Given the description of an element on the screen output the (x, y) to click on. 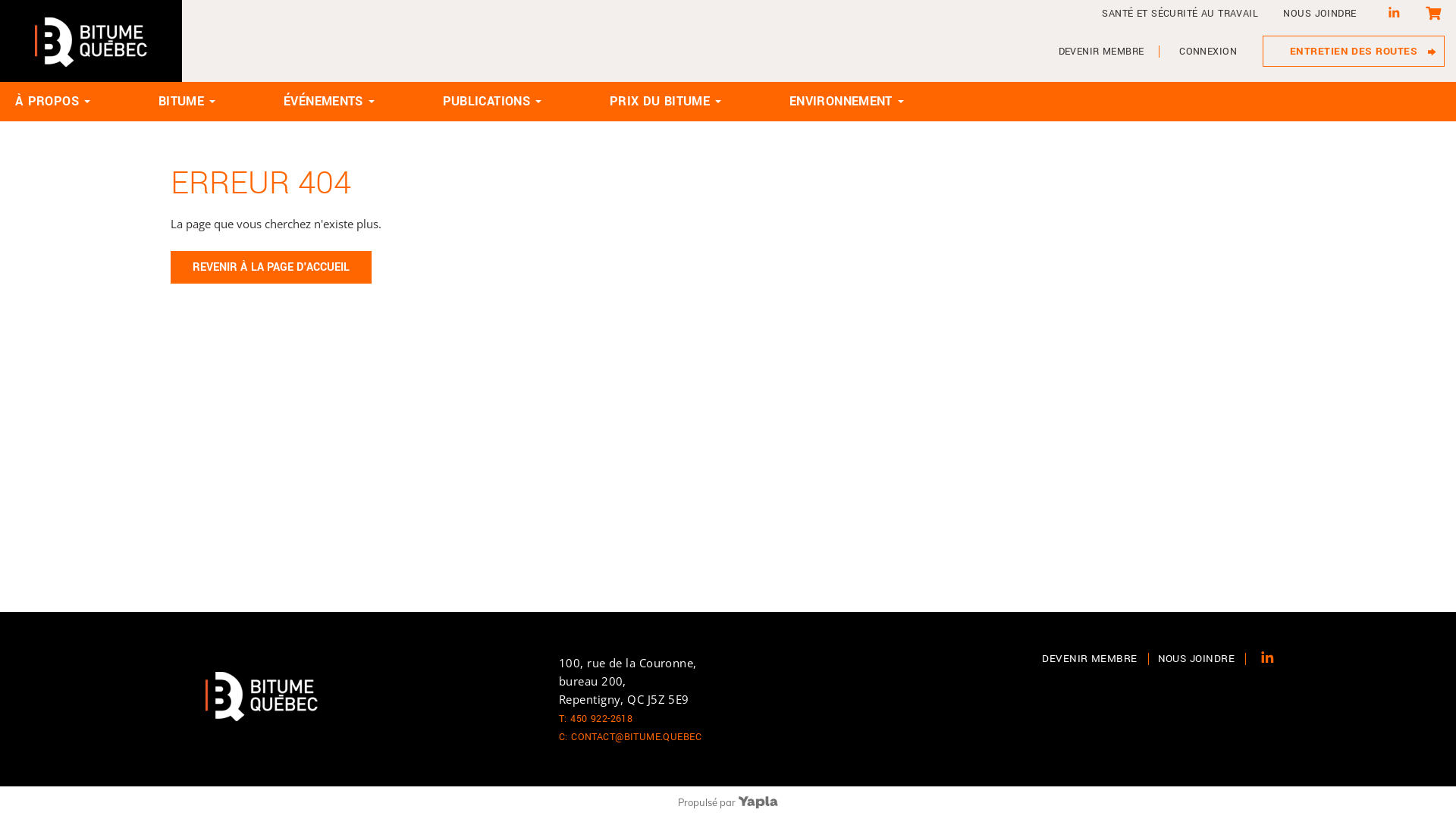
PANIER Element type: text (1432, 14)
NOUS JOINDRE Element type: text (1201, 658)
ENTRETIEN DES ROUTES Element type: text (1353, 50)
DEVENIR MEMBRE Element type: text (1101, 51)
DEVENIR MEMBRE Element type: text (1094, 658)
PUBLICATIONS Element type: text (486, 101)
C: CONTACT@BITUME.QUEBEC Element type: text (631, 736)
PRIX DU BITUME Element type: text (659, 101)
ENVIRONNEMENT Element type: text (840, 101)
T: 450 922-2618 Element type: text (597, 718)
NOUS JOINDRE Element type: text (1319, 13)
BITUME Element type: text (181, 101)
CONNEXION Element type: text (1207, 51)
